Given the description of an element on the screen output the (x, y) to click on. 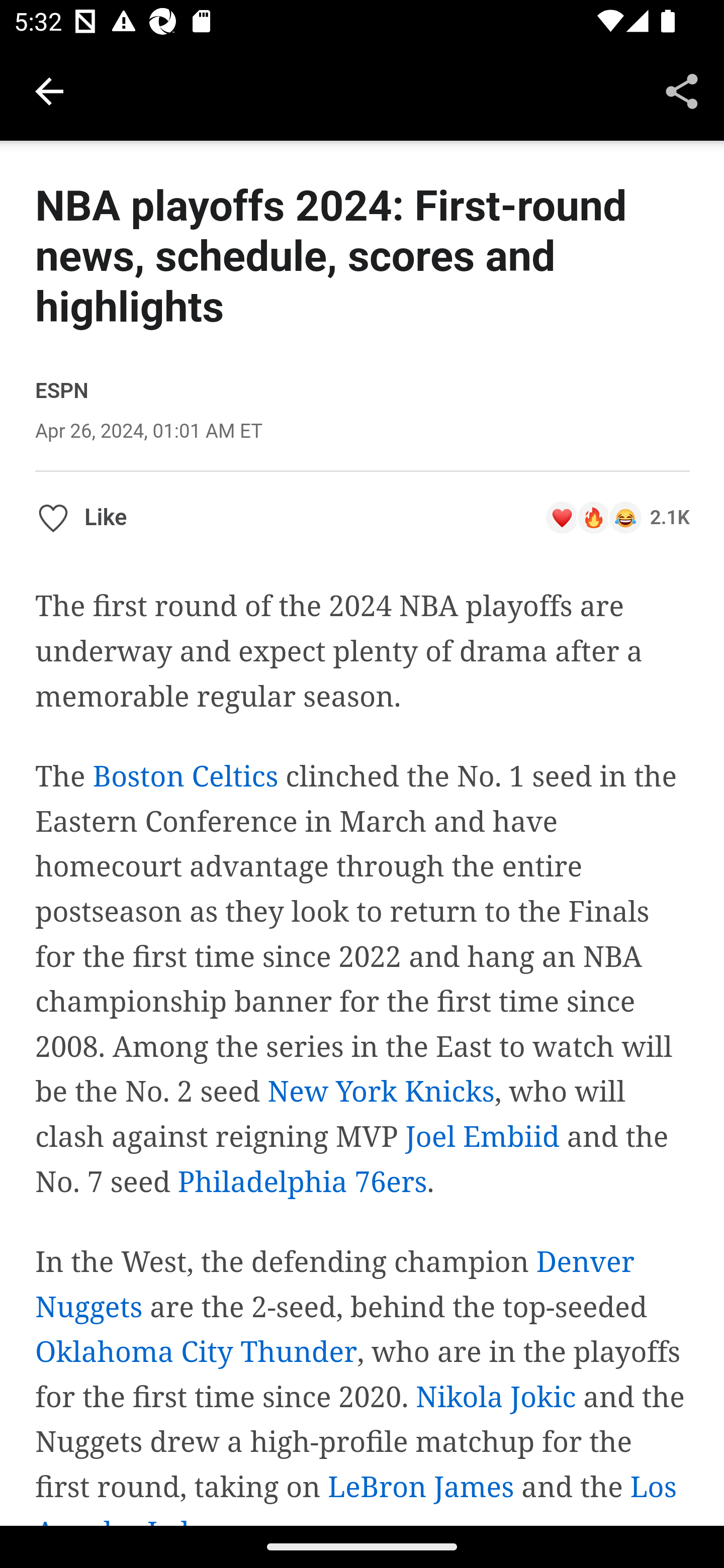
Navigate up (49, 91)
Share (681, 90)
